Given the description of an element on the screen output the (x, y) to click on. 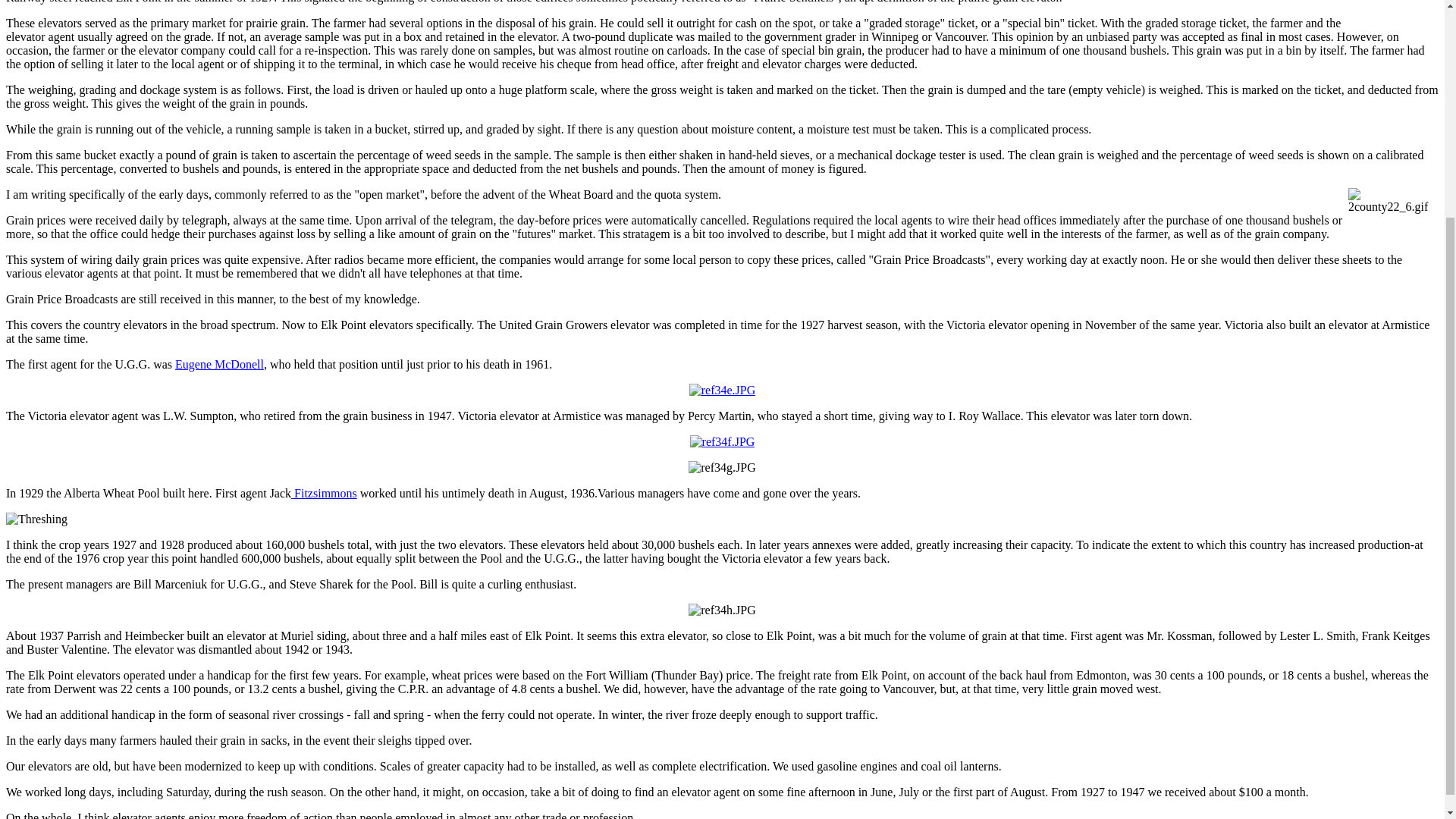
Fitzsimmons (323, 492)
Eugene McDonell (218, 364)
